Given the description of an element on the screen output the (x, y) to click on. 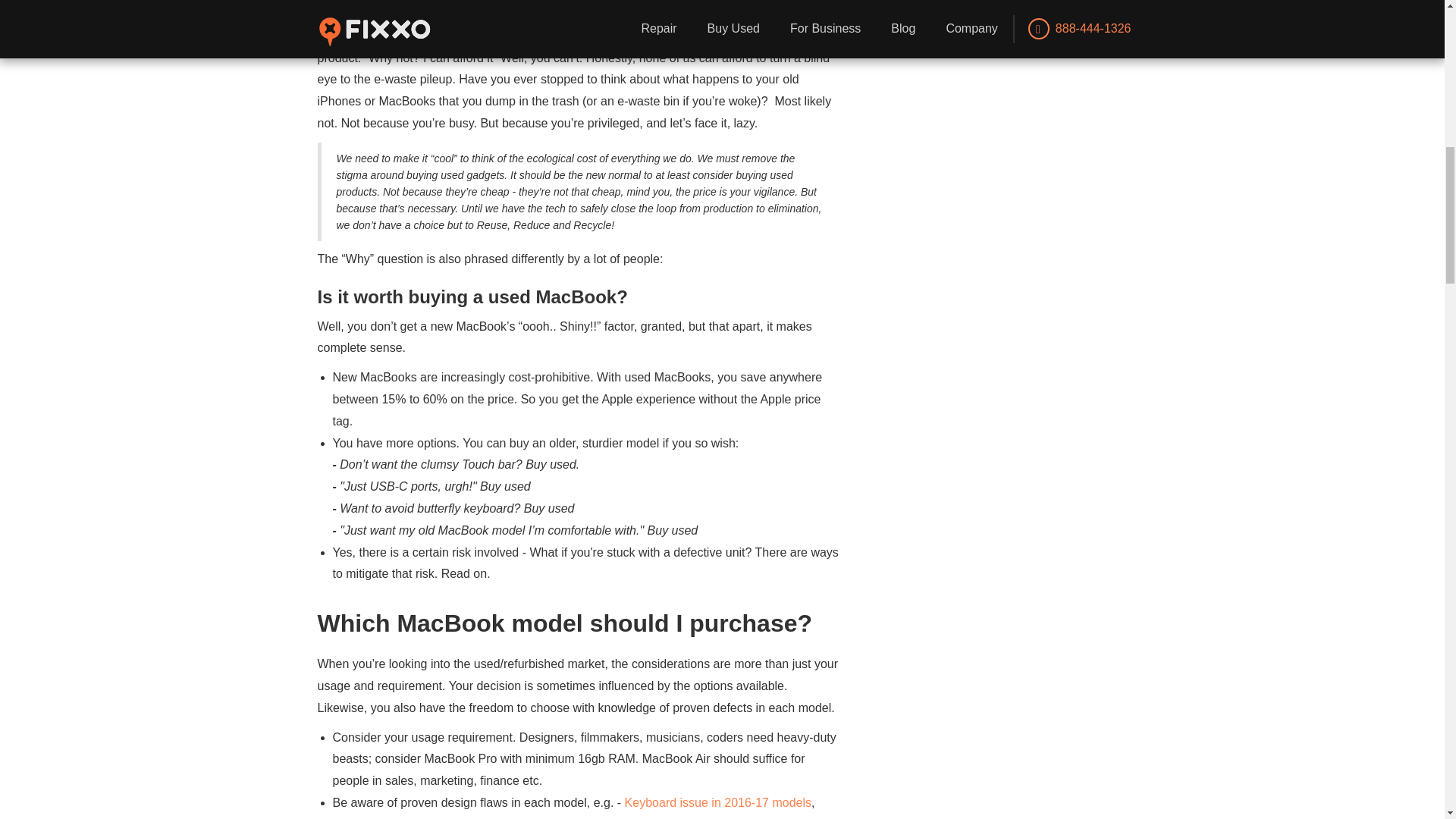
Keyboard issue in 2016-17 models (717, 802)
